Given the description of an element on the screen output the (x, y) to click on. 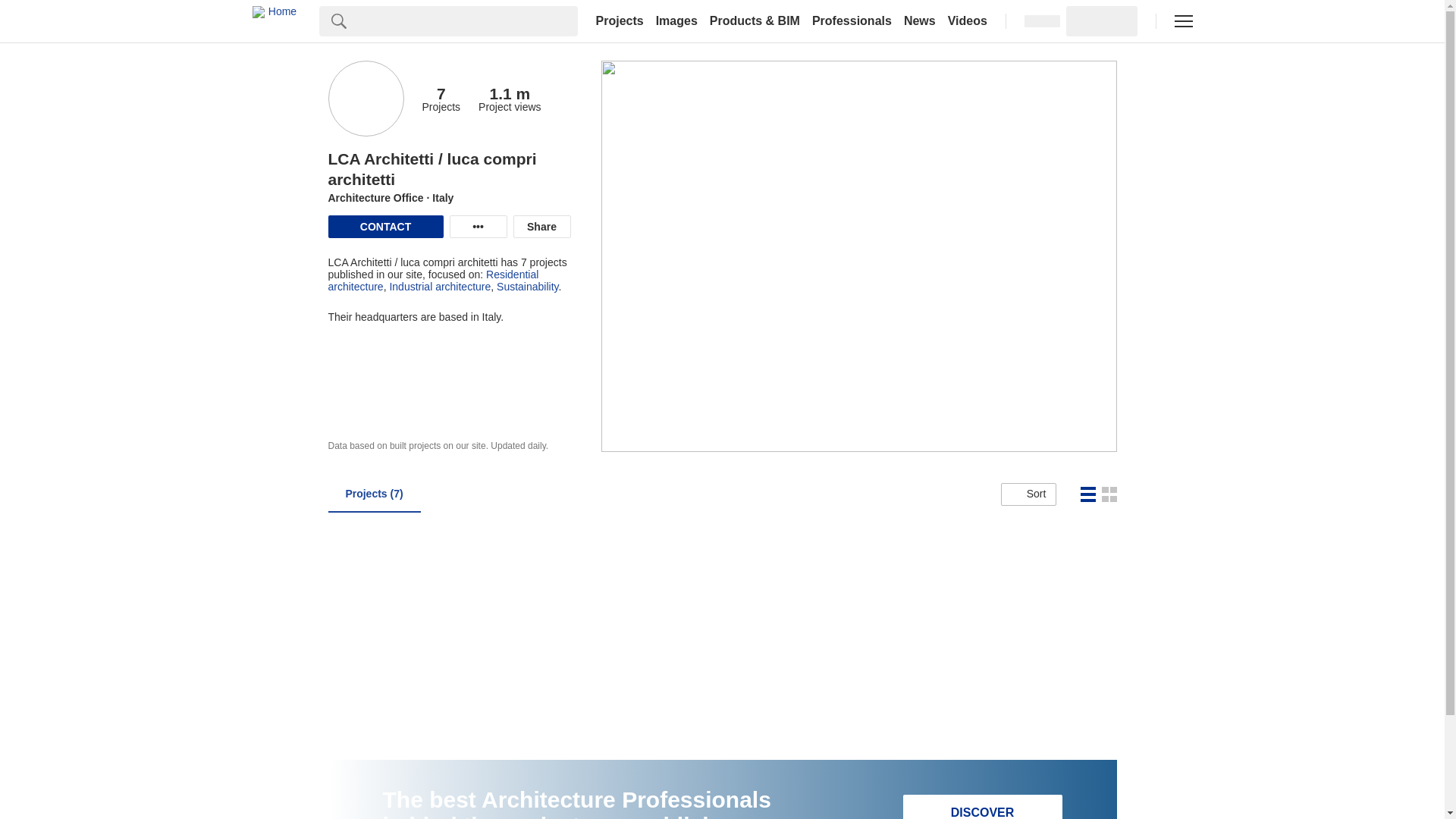
Videos (967, 21)
Professionals (852, 21)
Images (676, 21)
Projects (619, 21)
News (920, 21)
